Given the description of an element on the screen output the (x, y) to click on. 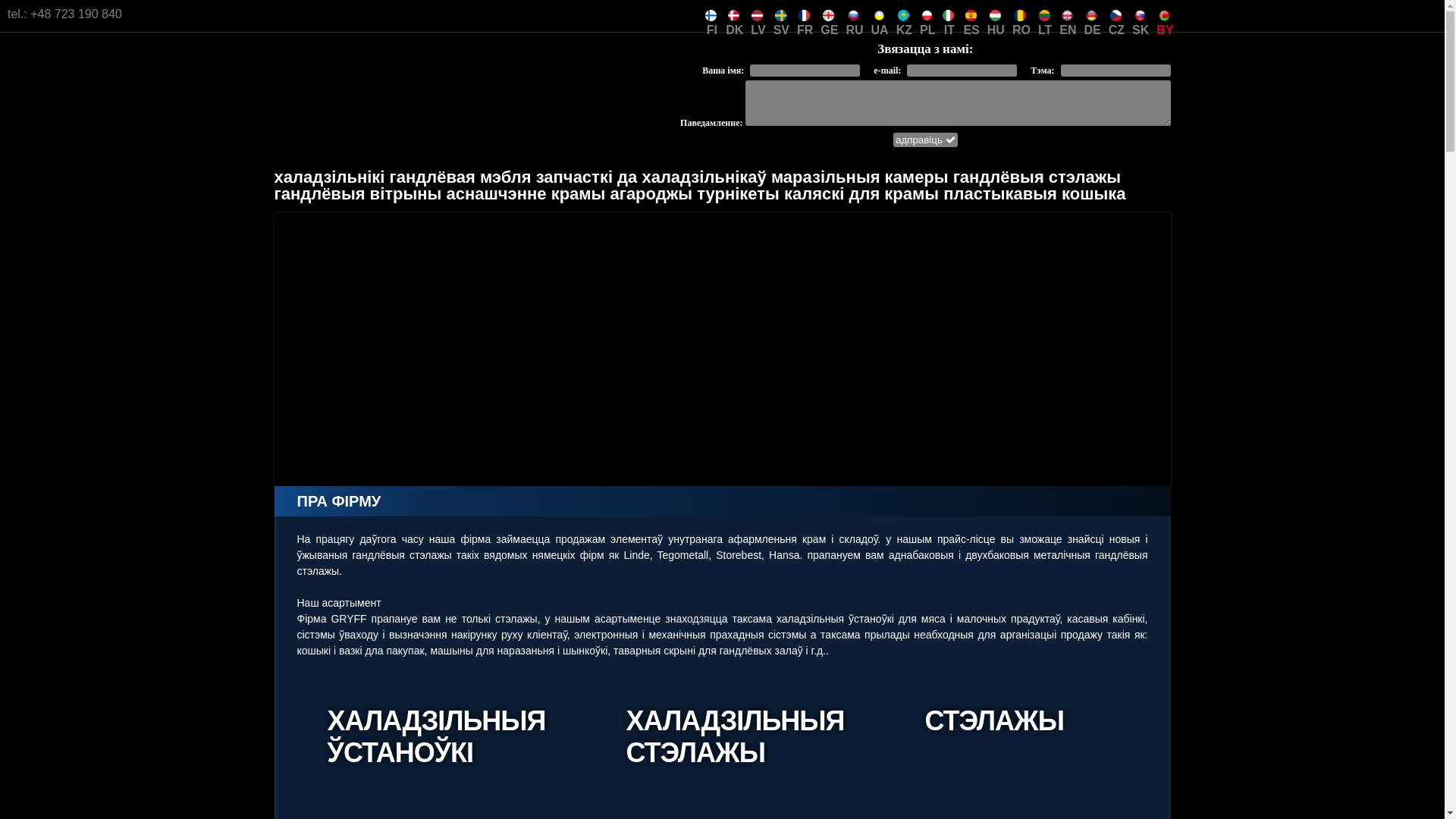
SV Element type: text (781, 14)
RO Element type: text (1021, 14)
ES Element type: text (971, 14)
LV Element type: text (757, 14)
KZ Element type: text (904, 14)
HU Element type: text (995, 14)
UA Element type: text (879, 14)
DK Element type: text (734, 14)
FI Element type: text (711, 14)
FR Element type: text (804, 14)
DE Element type: text (1091, 14)
GE Element type: text (828, 14)
EN Element type: text (1067, 14)
IT Element type: text (948, 14)
CZ Element type: text (1116, 14)
LT Element type: text (1044, 14)
PL Element type: text (927, 14)
RU Element type: text (853, 14)
SK Element type: text (1140, 14)
BY Element type: text (1164, 14)
